Given the description of an element on the screen output the (x, y) to click on. 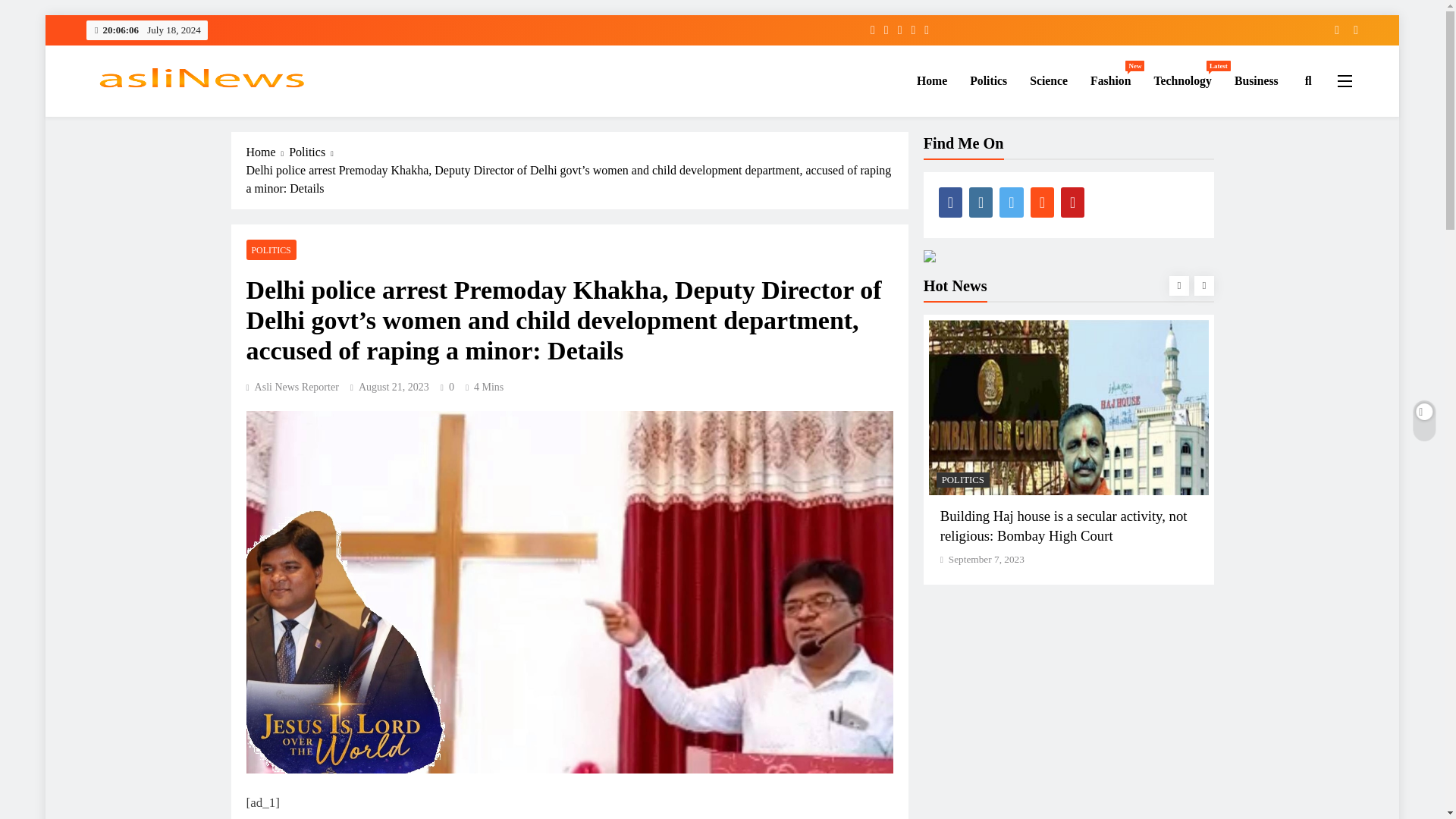
Skip to content (1109, 80)
Science (1256, 80)
aslinews.com (1182, 80)
Random News (1047, 80)
Newsletter (152, 113)
Home (1350, 30)
Politics (1331, 30)
